Given the description of an element on the screen output the (x, y) to click on. 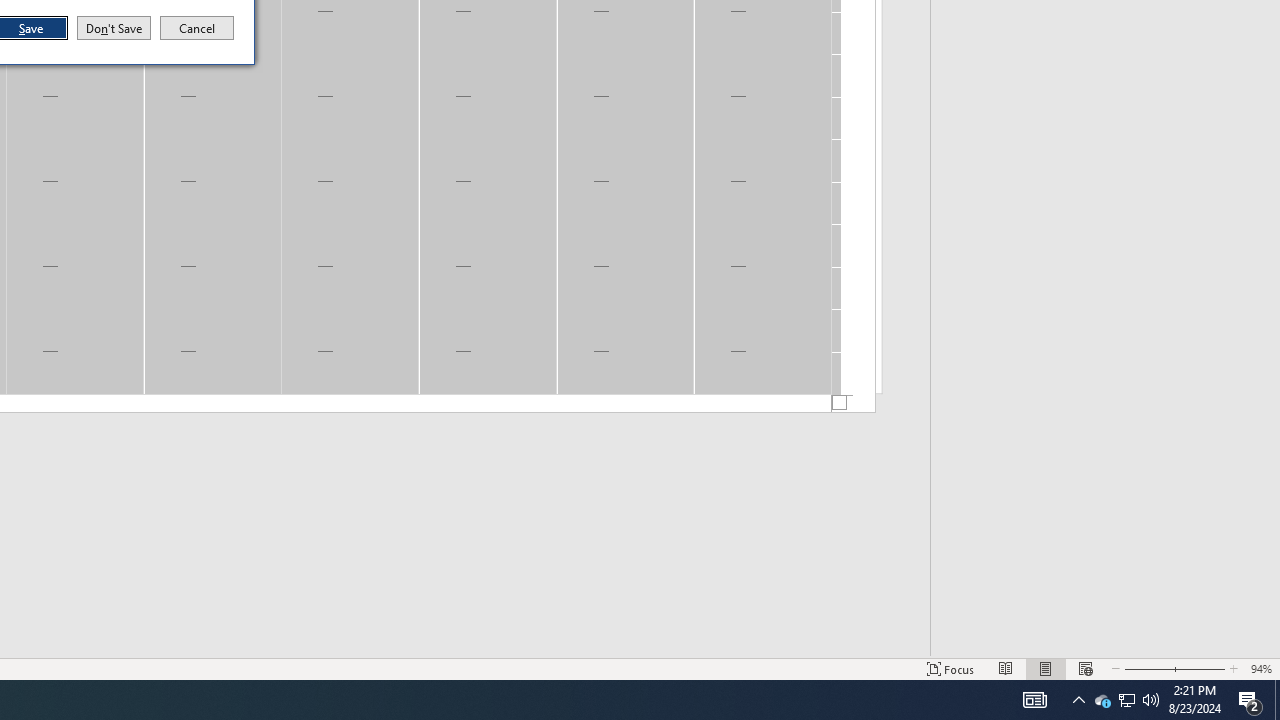
Don't Save (113, 27)
Cancel (1126, 699)
